Given the description of an element on the screen output the (x, y) to click on. 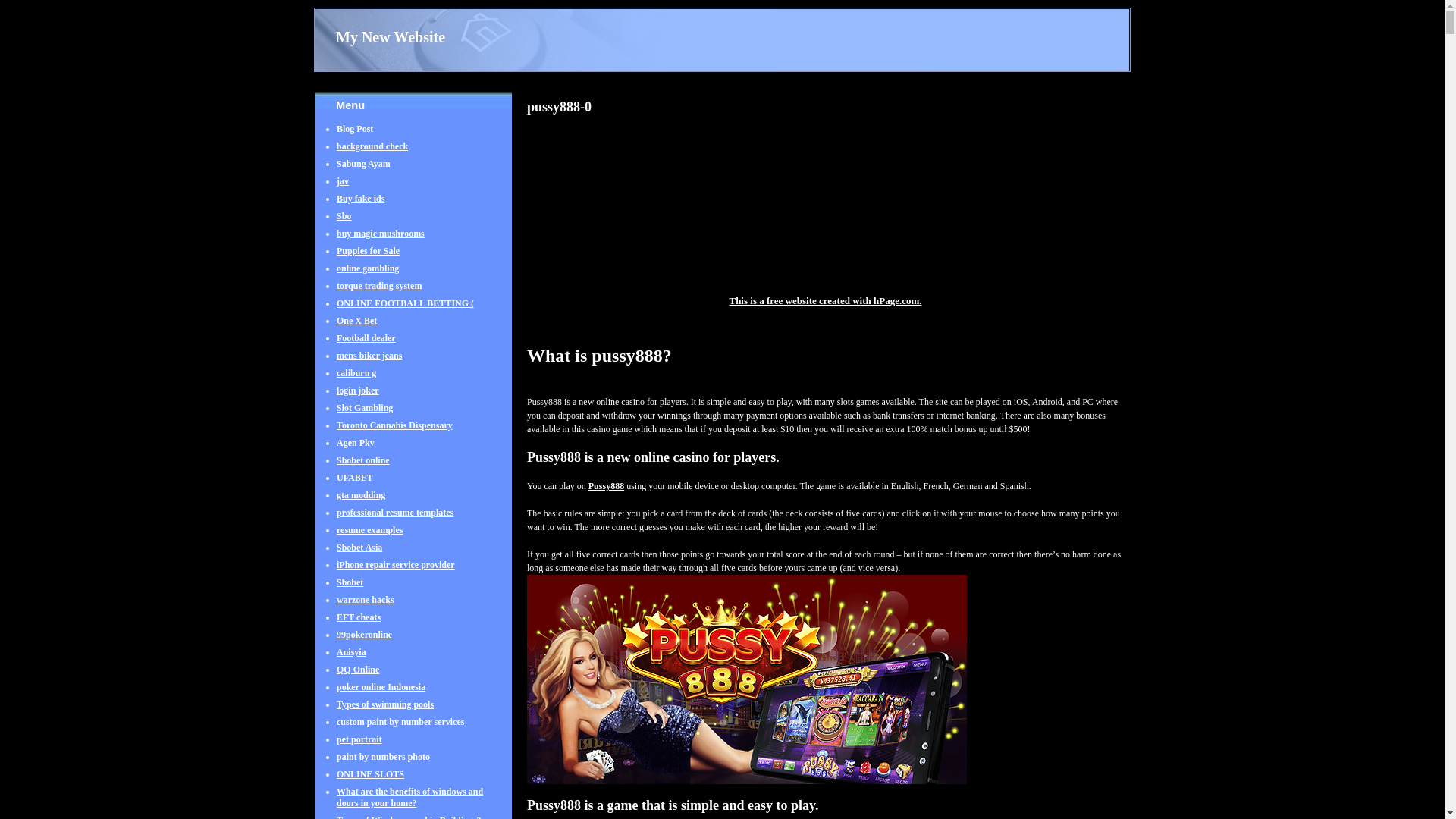
ONLINE SLOTS (370, 781)
What are the benefits of windows and doors in your home? (409, 802)
caliburn g (355, 380)
QQ Online (357, 677)
Football dealer (366, 345)
Anisyia (351, 659)
Buy fake ids (360, 206)
poker online Indonesia (380, 694)
warzone hacks (365, 606)
Puppies for Sale (367, 258)
paint by numbers photo (382, 764)
Toronto Cannabis Dispensary (394, 432)
Sbo (343, 223)
Types of Windows used in Buildings? (408, 816)
EFT cheats (358, 624)
